Given the description of an element on the screen output the (x, y) to click on. 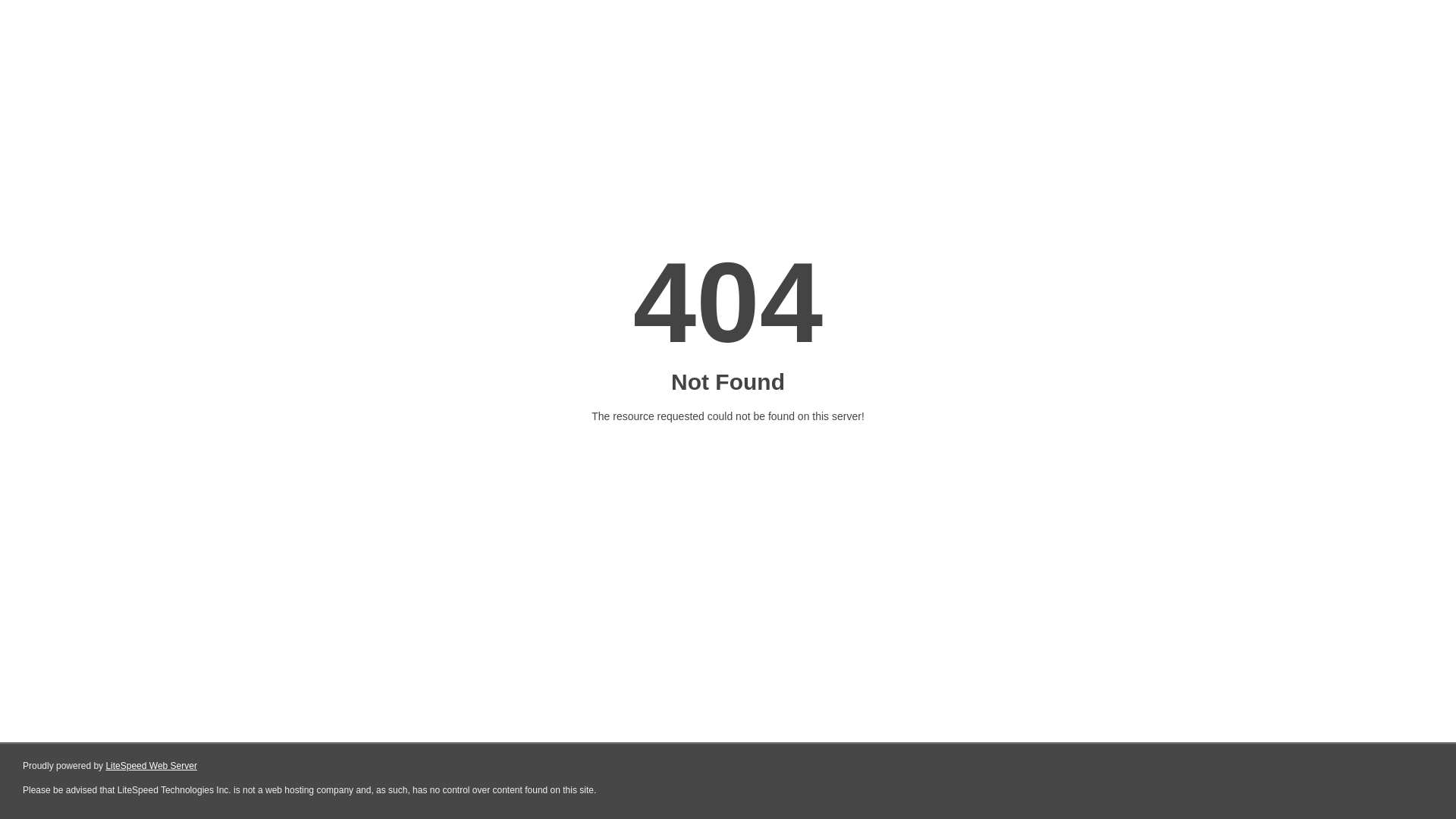
LiteSpeed Web Server Element type: text (151, 765)
